Given the description of an element on the screen output the (x, y) to click on. 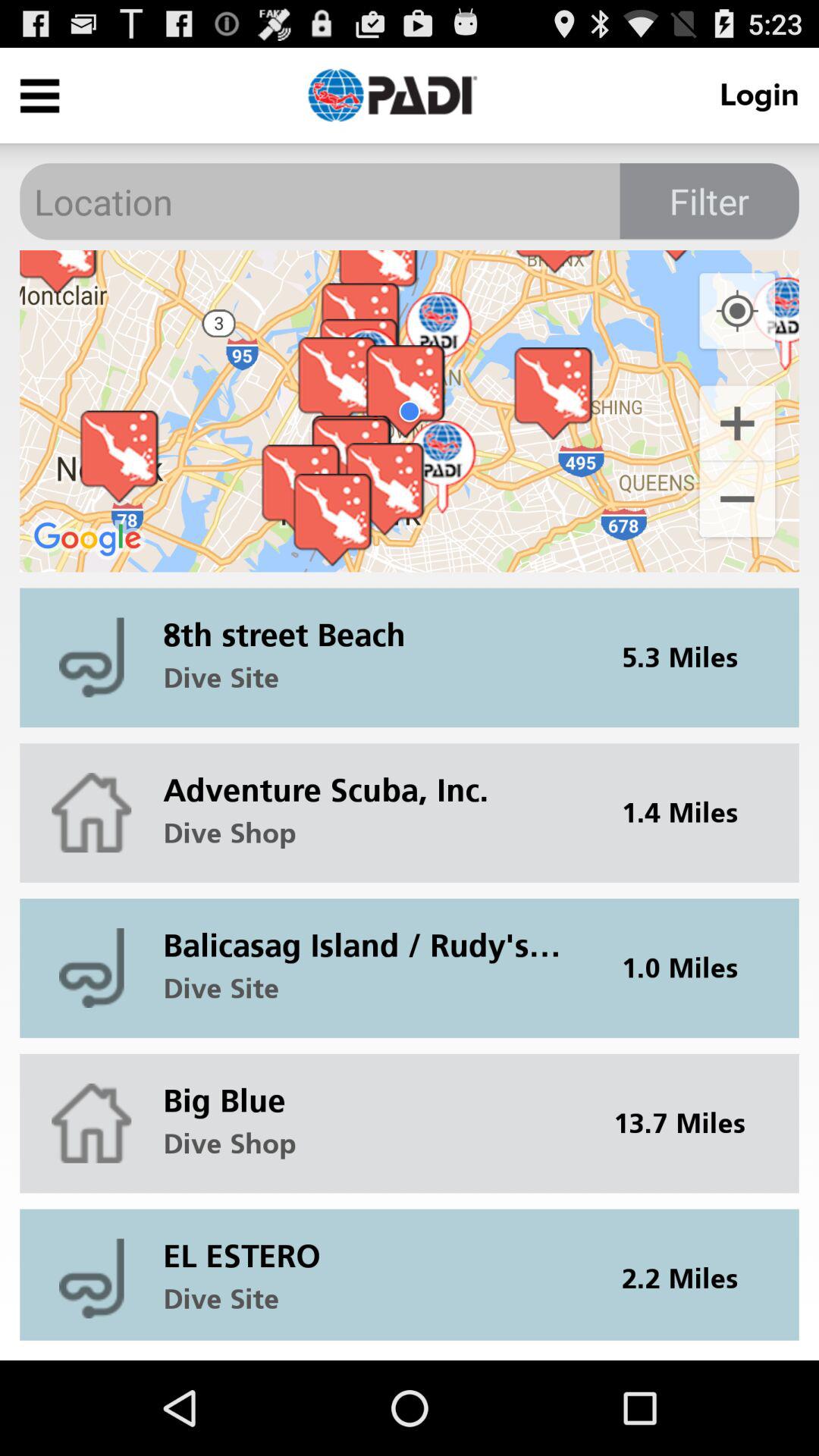
enter location (409, 201)
